Given the description of an element on the screen output the (x, y) to click on. 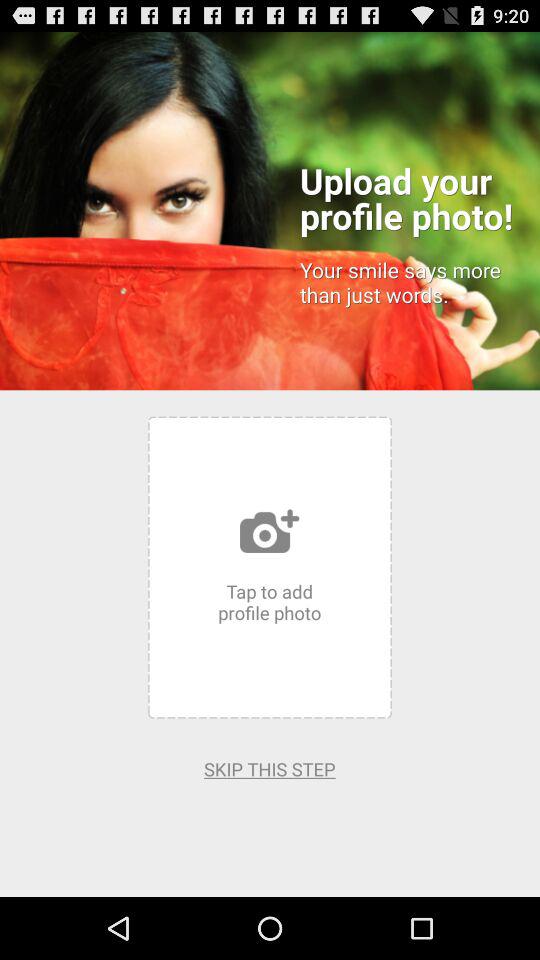
swipe to the skip this step app (269, 768)
